Given the description of an element on the screen output the (x, y) to click on. 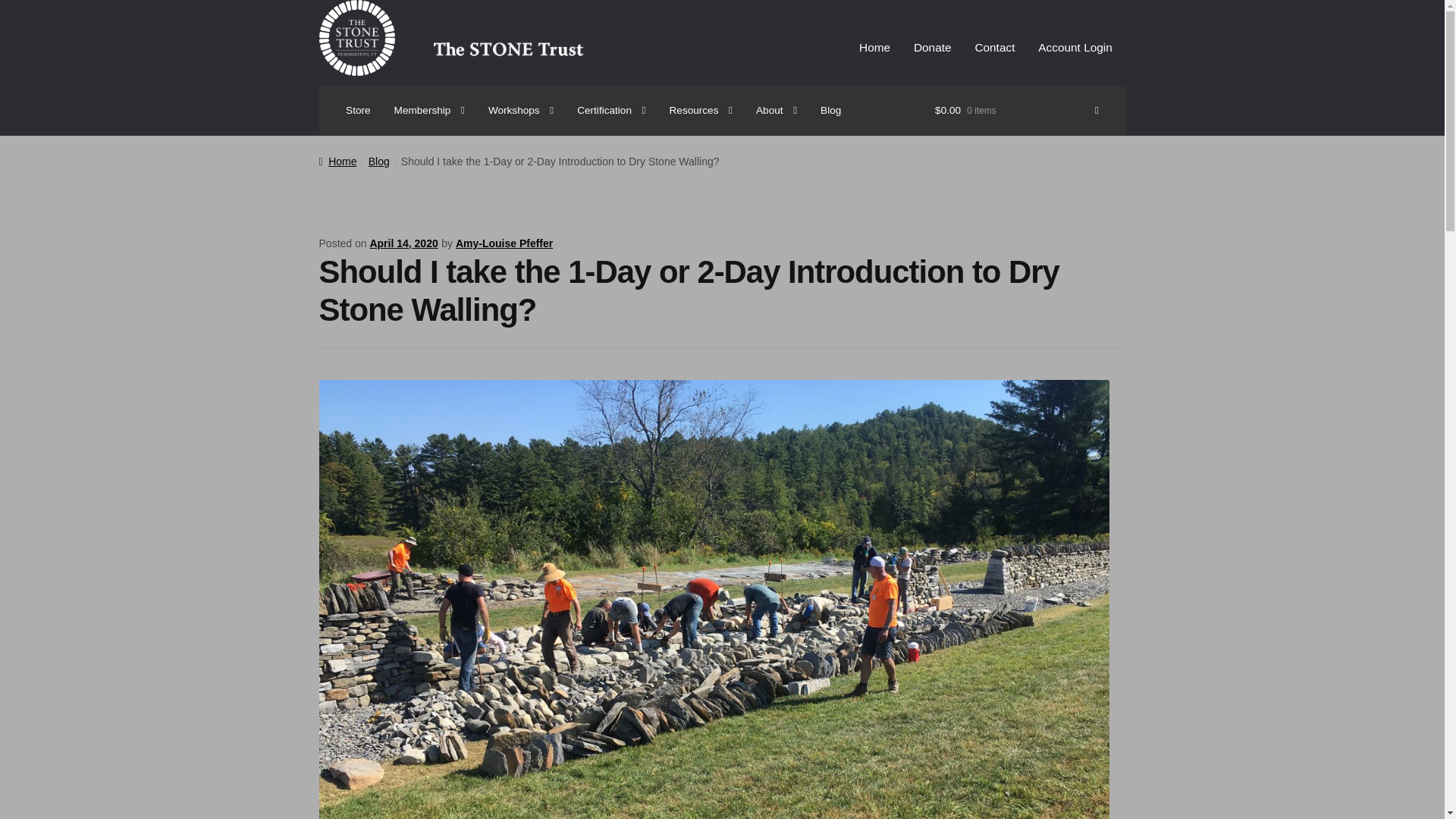
Store (358, 110)
Workshops (520, 110)
Certification (611, 110)
Contact (994, 47)
Account Login (1074, 47)
Home (874, 47)
Membership (430, 110)
View your shopping cart (1016, 110)
Donate (931, 47)
